Given the description of an element on the screen output the (x, y) to click on. 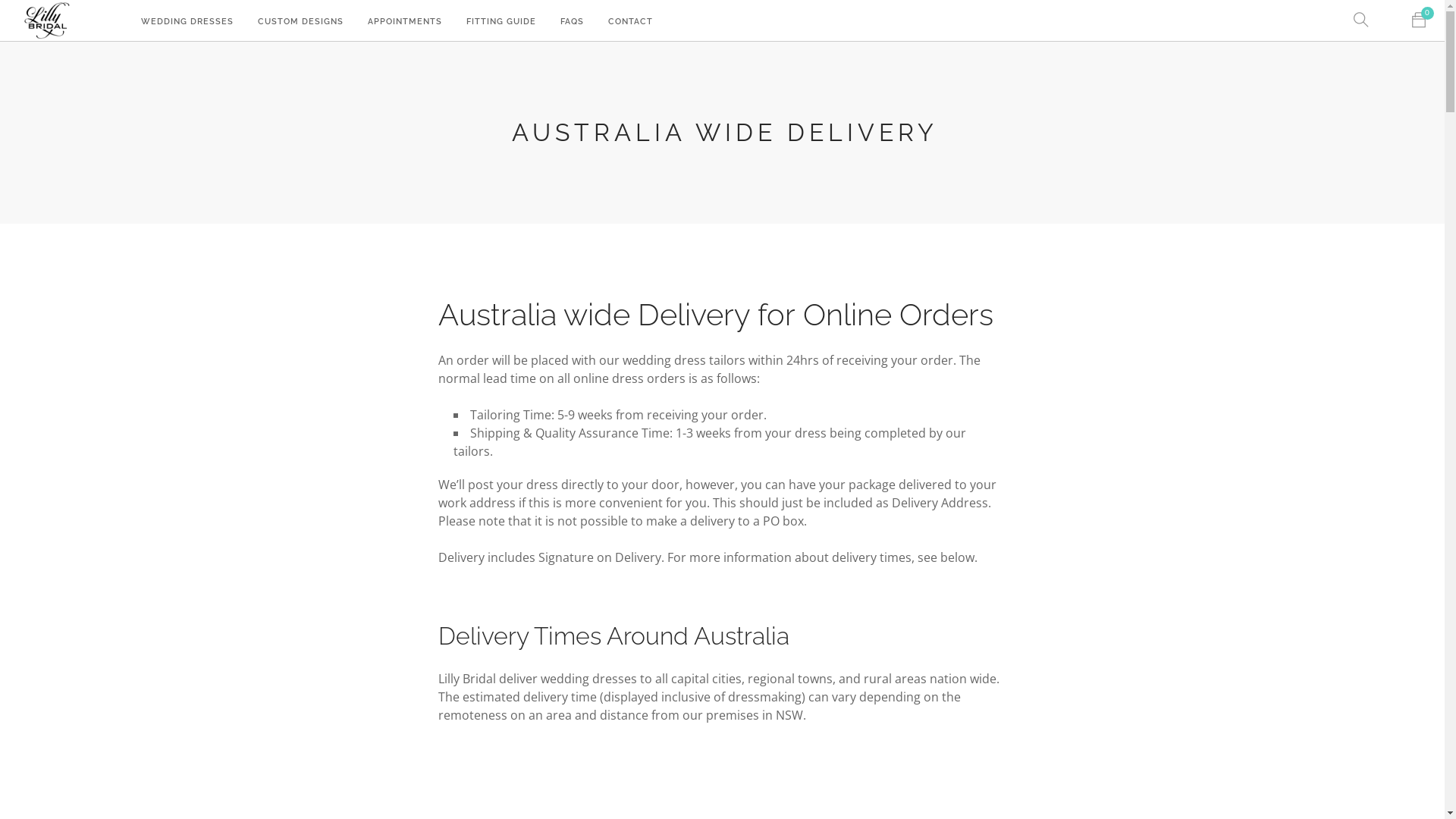
CONTACT Element type: text (630, 22)
FAQS Element type: text (571, 22)
0 Element type: text (1418, 20)
CUSTOM DESIGNS Element type: text (300, 22)
WEDDING DRESSES Element type: text (187, 22)
APPOINTMENTS Element type: text (404, 22)
FITTING GUIDE Element type: text (501, 22)
